Given the description of an element on the screen output the (x, y) to click on. 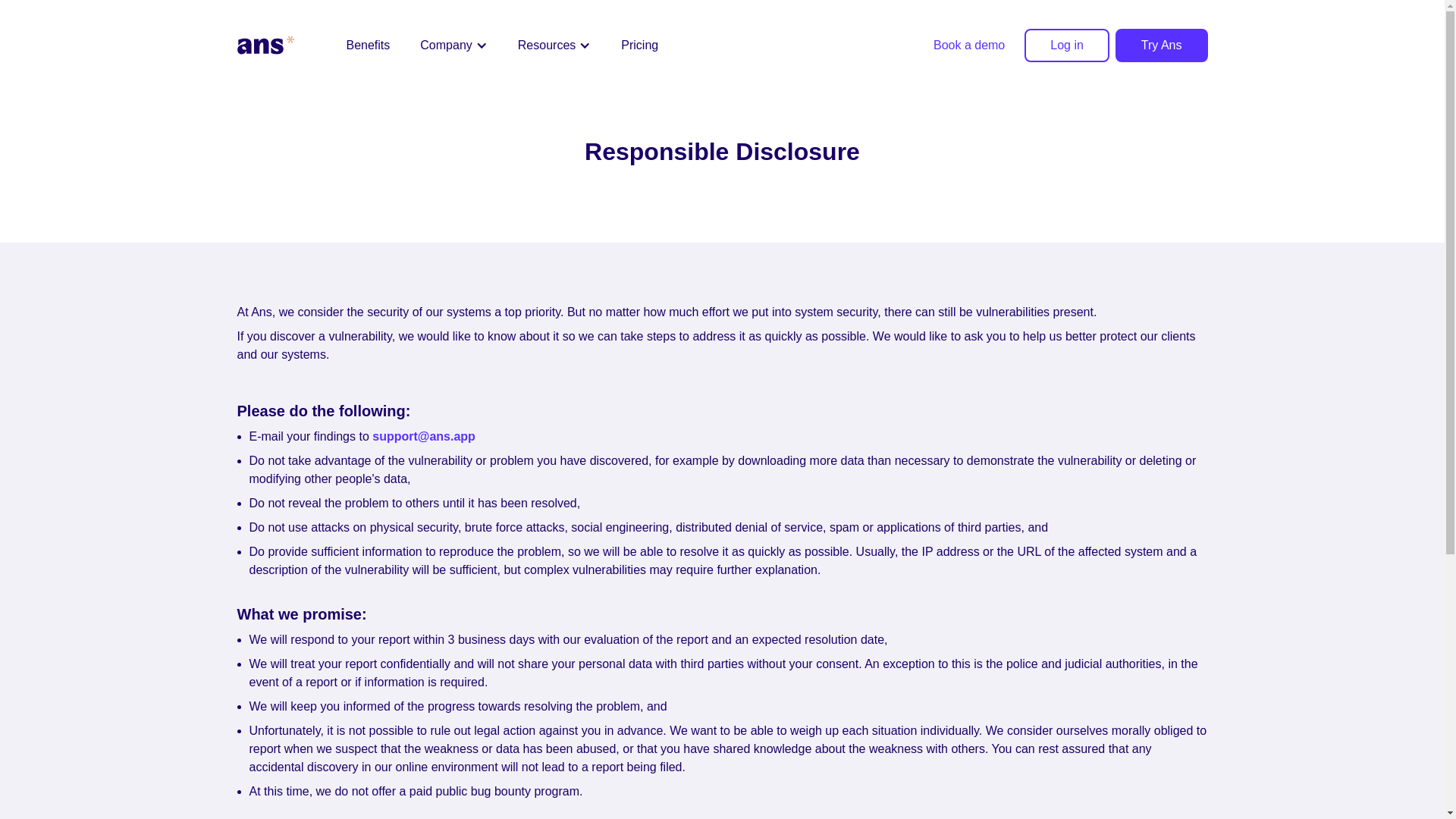
Log in (1067, 45)
Pricing (638, 45)
Try Ans (1161, 45)
Benefits (367, 45)
Book a demo (968, 45)
